Given the description of an element on the screen output the (x, y) to click on. 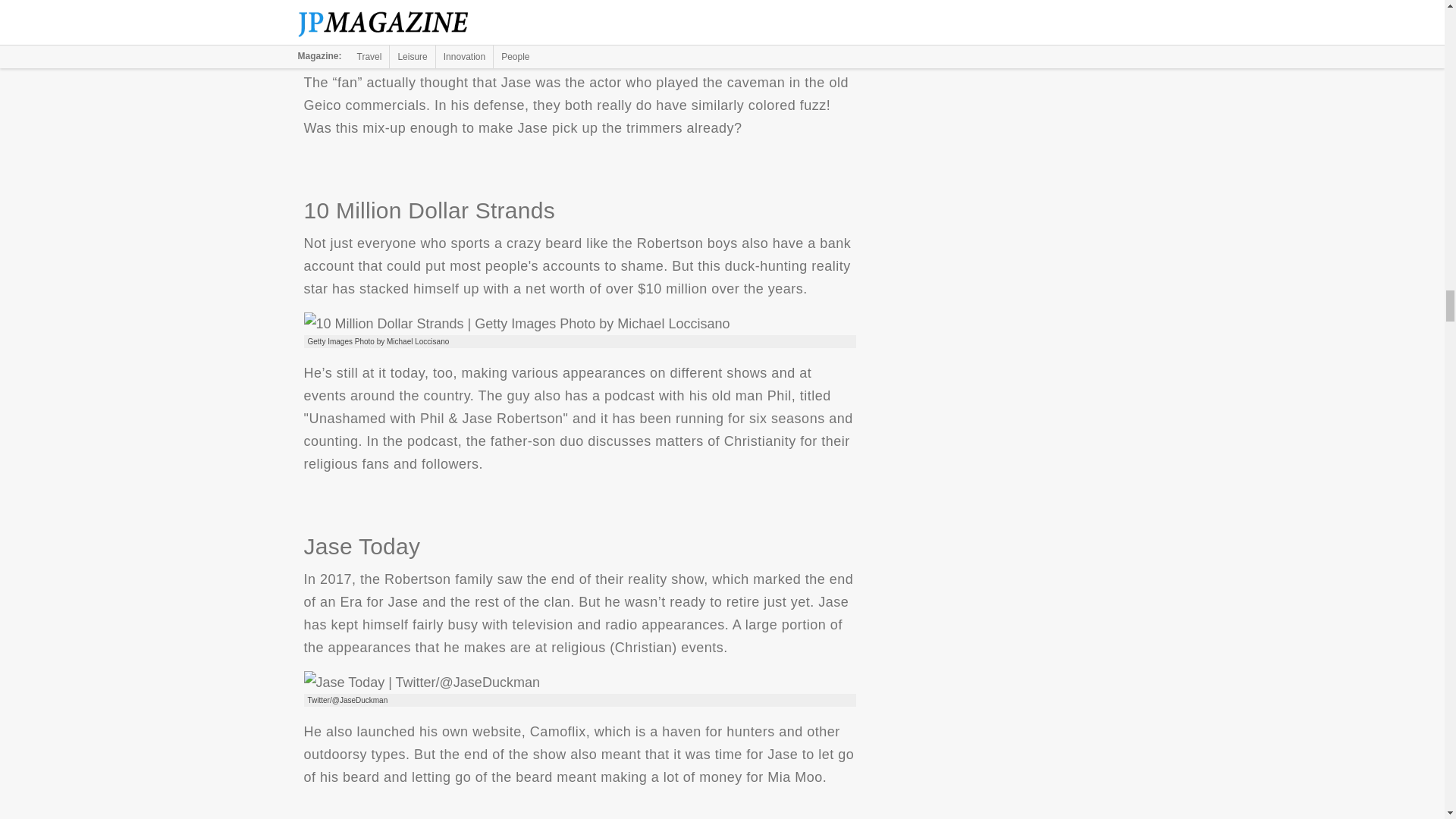
Jase Today (420, 681)
10 Million Dollar Strands (515, 323)
Caveman Status (483, 33)
